Given the description of an element on the screen output the (x, y) to click on. 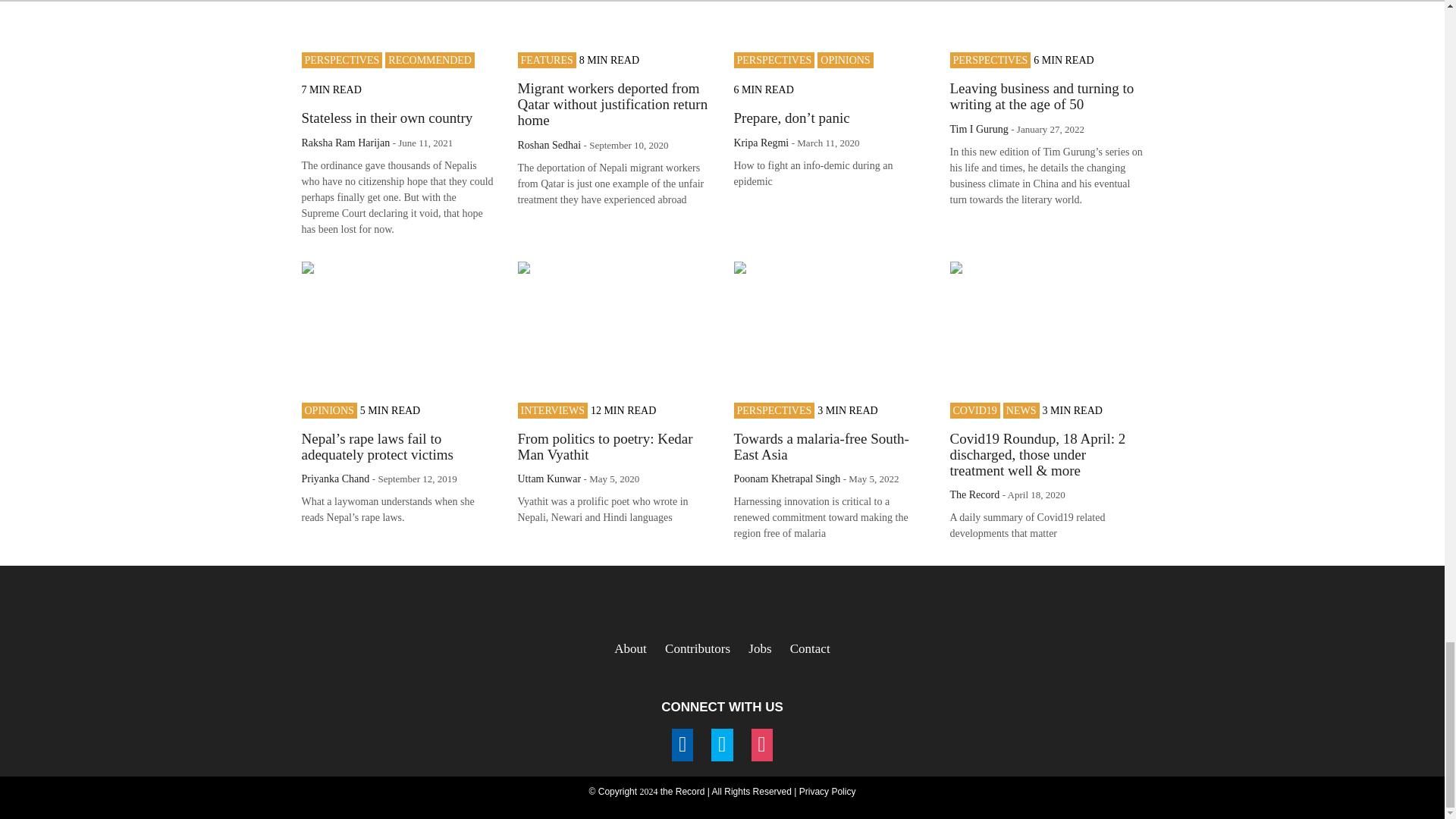
Stateless in their own country (387, 117)
From politics to poetry: Kedar Man Vyathit (604, 446)
Towards a malaria-free South-East Asia (820, 446)
Leaving business and turning to writing at the age of 50 (1041, 96)
